Given the description of an element on the screen output the (x, y) to click on. 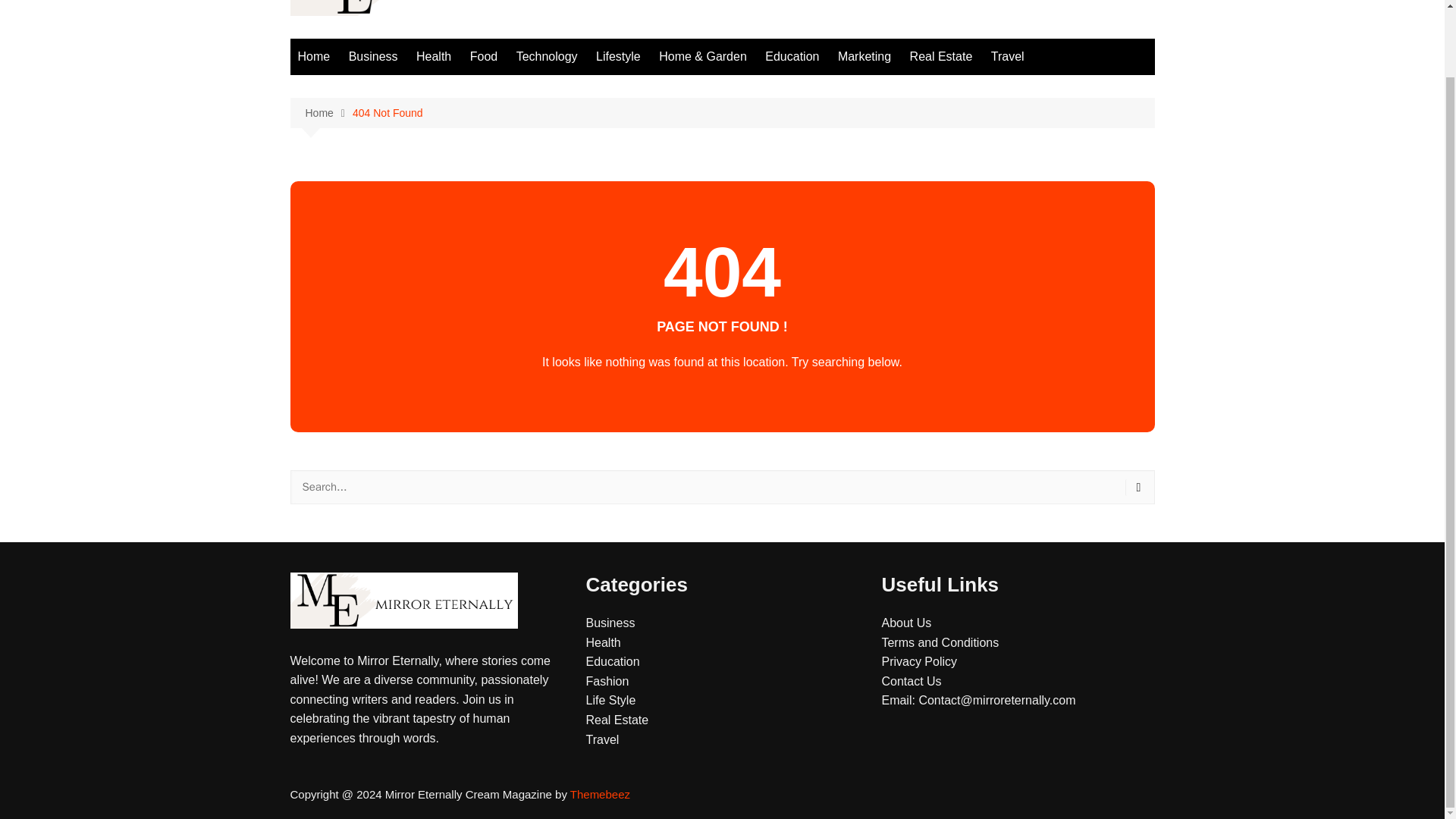
Contact Us (910, 680)
Real Estate (616, 719)
Business (609, 622)
Food (484, 56)
Marketing (863, 56)
Travel (601, 739)
Privacy Policy (918, 661)
Home (313, 56)
Real Estate (940, 56)
Business (373, 56)
